Given the description of an element on the screen output the (x, y) to click on. 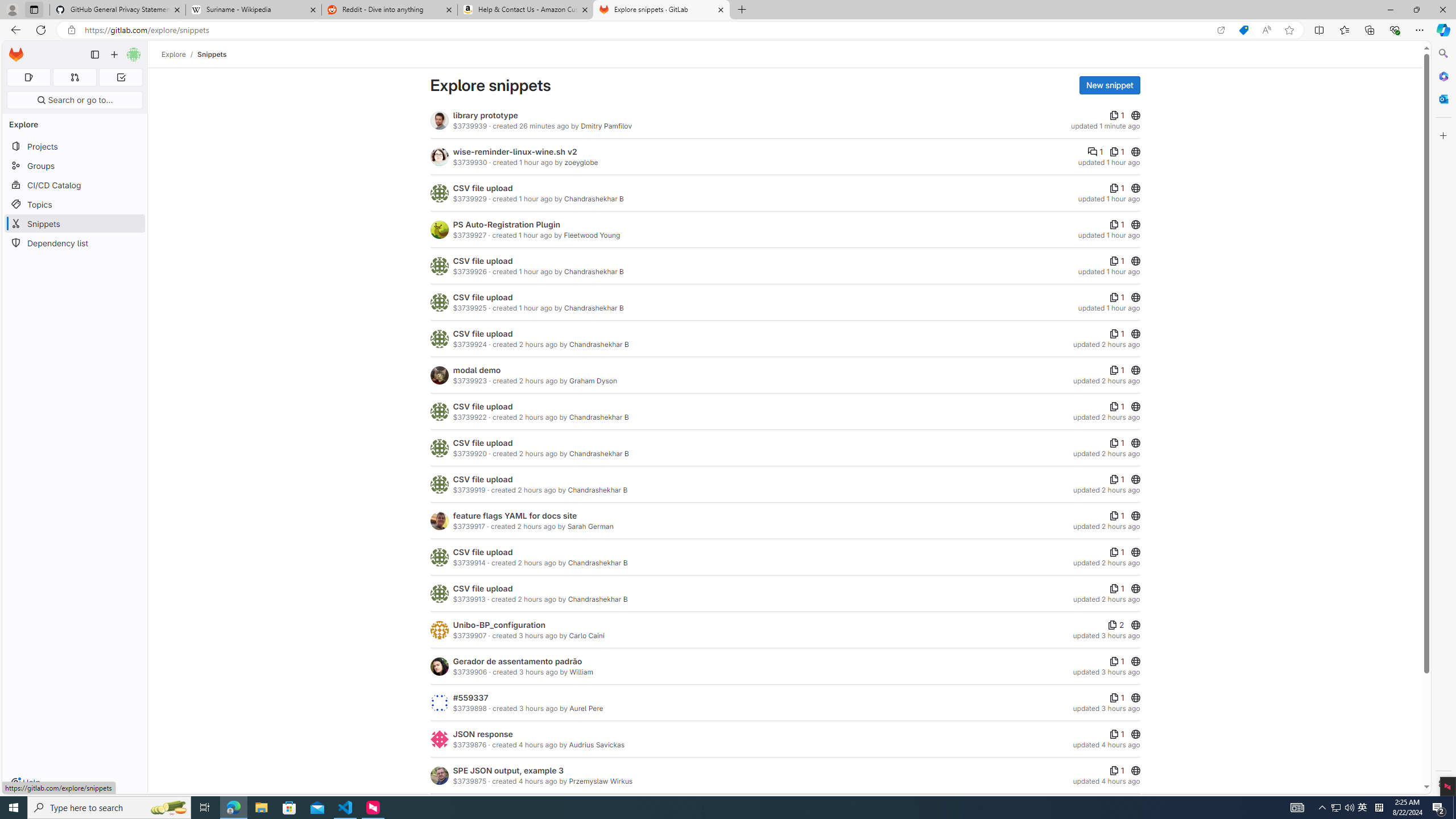
Create new... (113, 54)
GitHub General Privacy Statement - GitHub Docs (117, 9)
Sarah German (589, 526)
Fleetwood Young (591, 234)
feature flags YAML for docs site (514, 515)
library prototype (485, 115)
Class: s16 (1135, 770)
Shopping in Microsoft Edge (1243, 29)
Chandrashekhar B (597, 599)
Topics (74, 203)
Explore (173, 53)
